Given the description of an element on the screen output the (x, y) to click on. 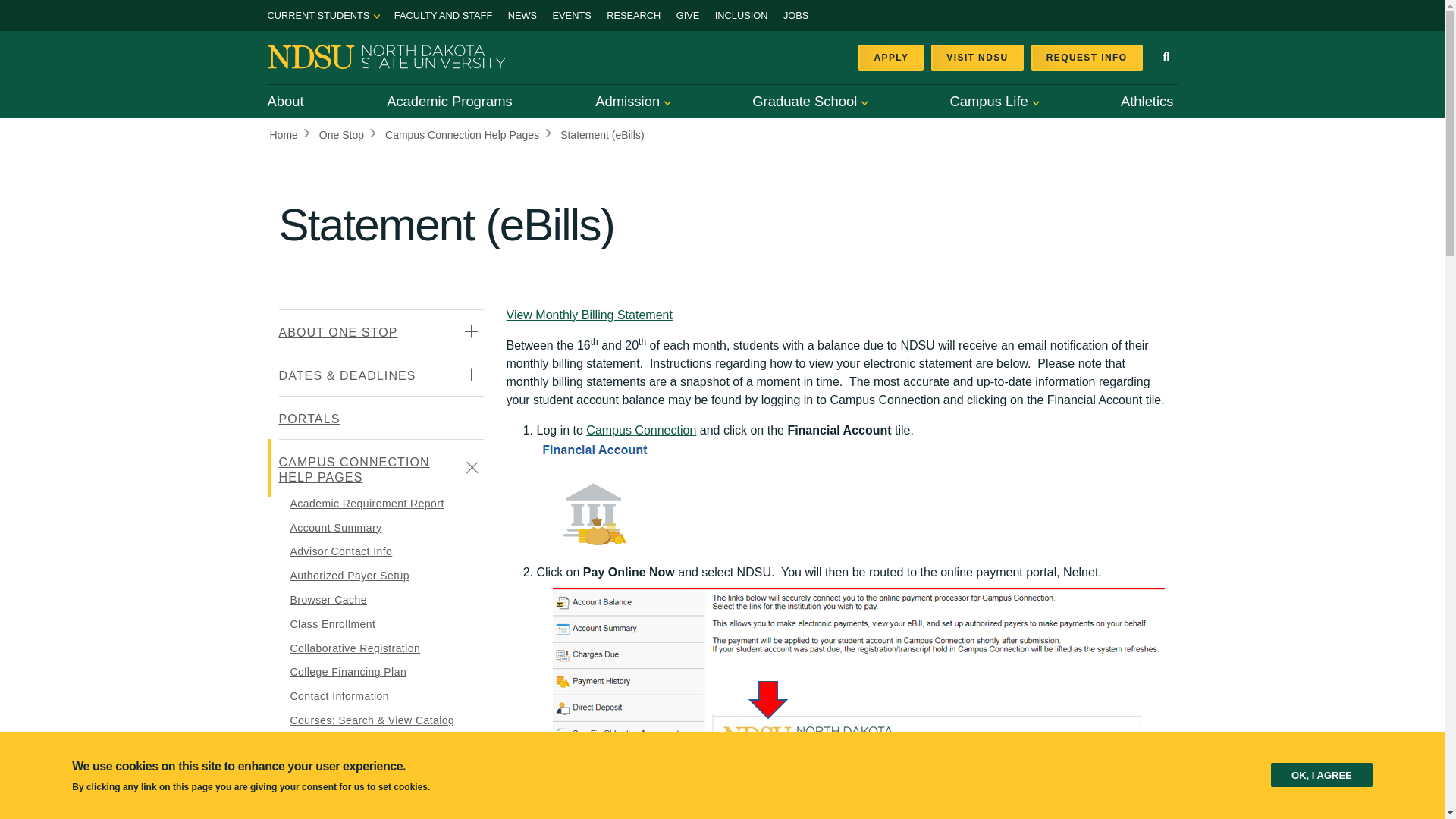
Arrow (377, 16)
Request Info (1086, 57)
Arrow (864, 102)
Arrow (1035, 102)
North Dakota State University Home (385, 55)
SKIP TO MAIN CONTENT (18, 8)
Arrow (667, 102)
Navigate to About One Stop (381, 331)
